Given the description of an element on the screen output the (x, y) to click on. 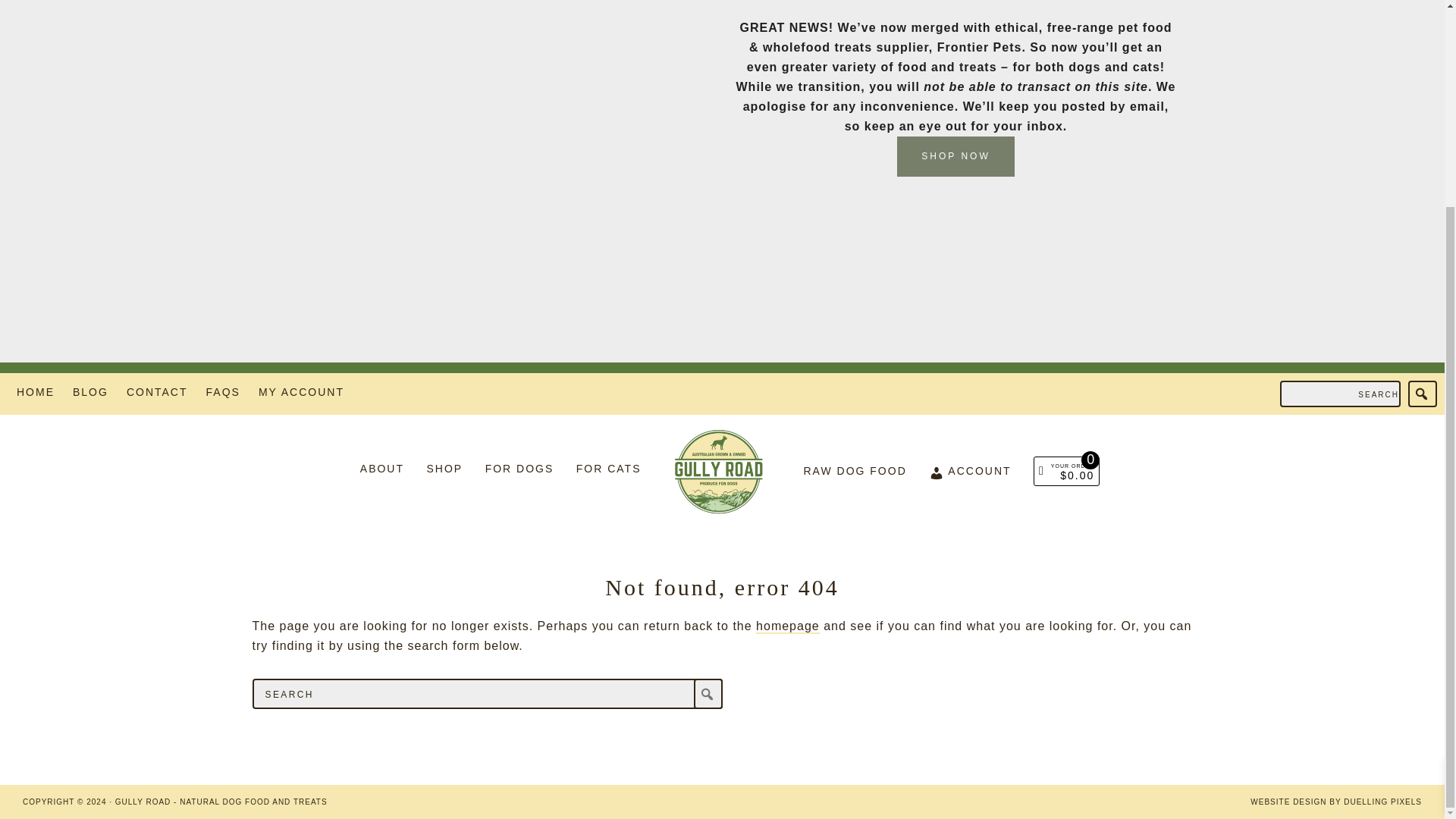
RAW DOG FOOD (855, 473)
FOR DOGS (519, 470)
BLOG (89, 394)
FAQS (223, 394)
CONTACT (156, 394)
FOR CATS (609, 470)
ABOUT (381, 470)
Duelling Pixels (1382, 801)
SHOP (444, 470)
HOME (35, 394)
